Given the description of an element on the screen output the (x, y) to click on. 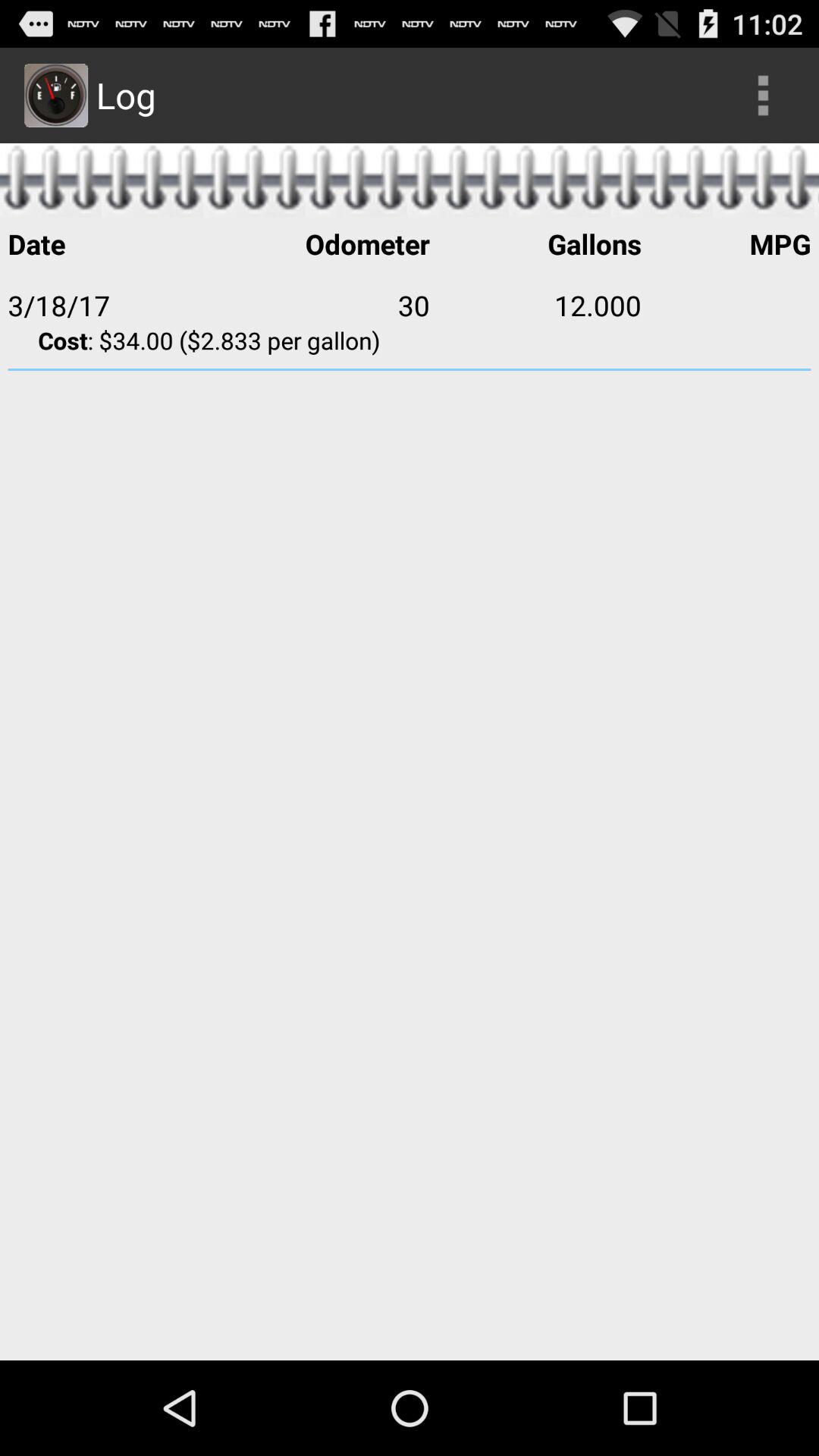
turn off the icon next to 12.000 app (726, 305)
